Given the description of an element on the screen output the (x, y) to click on. 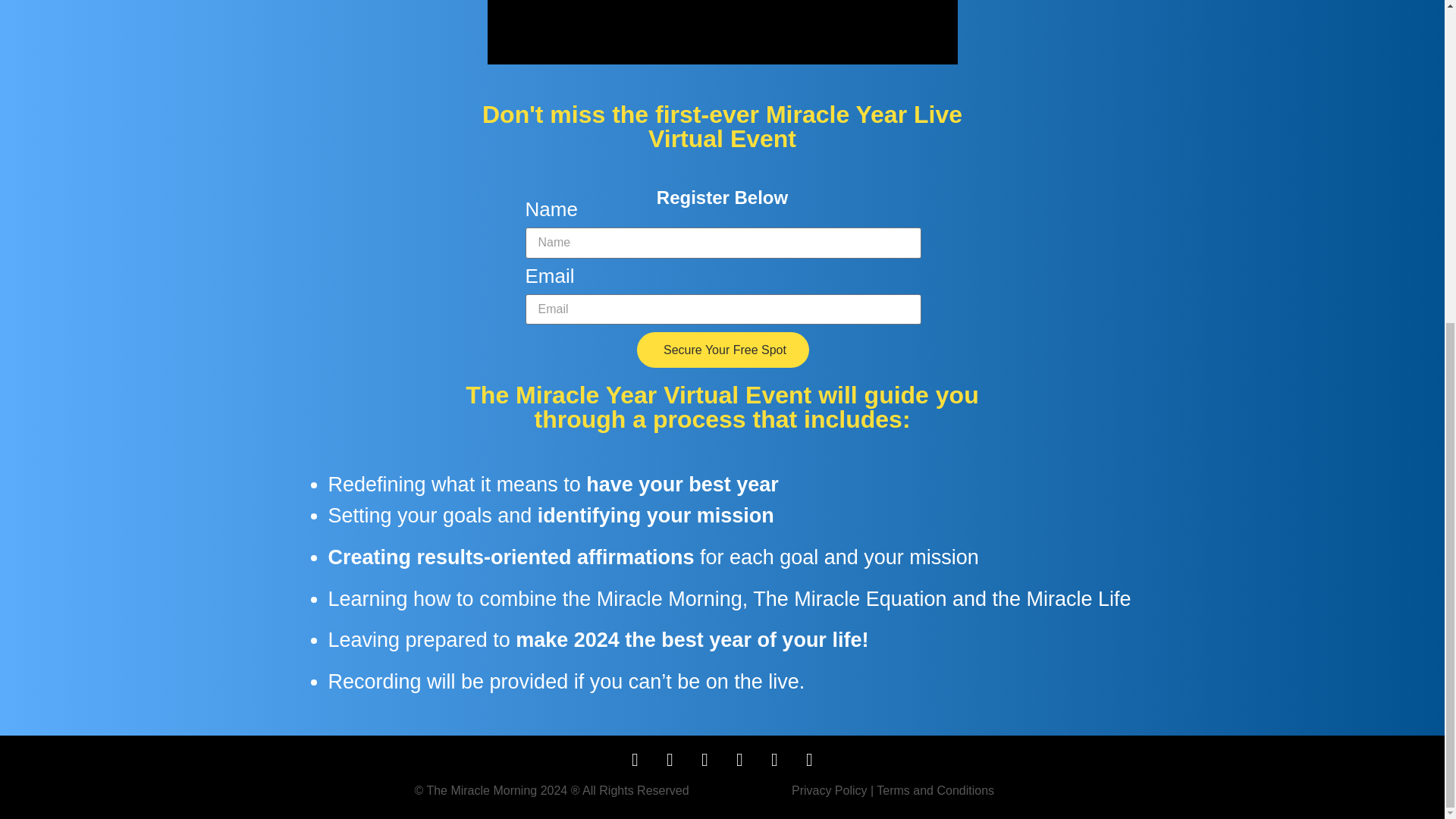
vimeo Video Player (721, 32)
Secure Your Free Spot (723, 349)
Privacy Policy (829, 789)
